Given the description of an element on the screen output the (x, y) to click on. 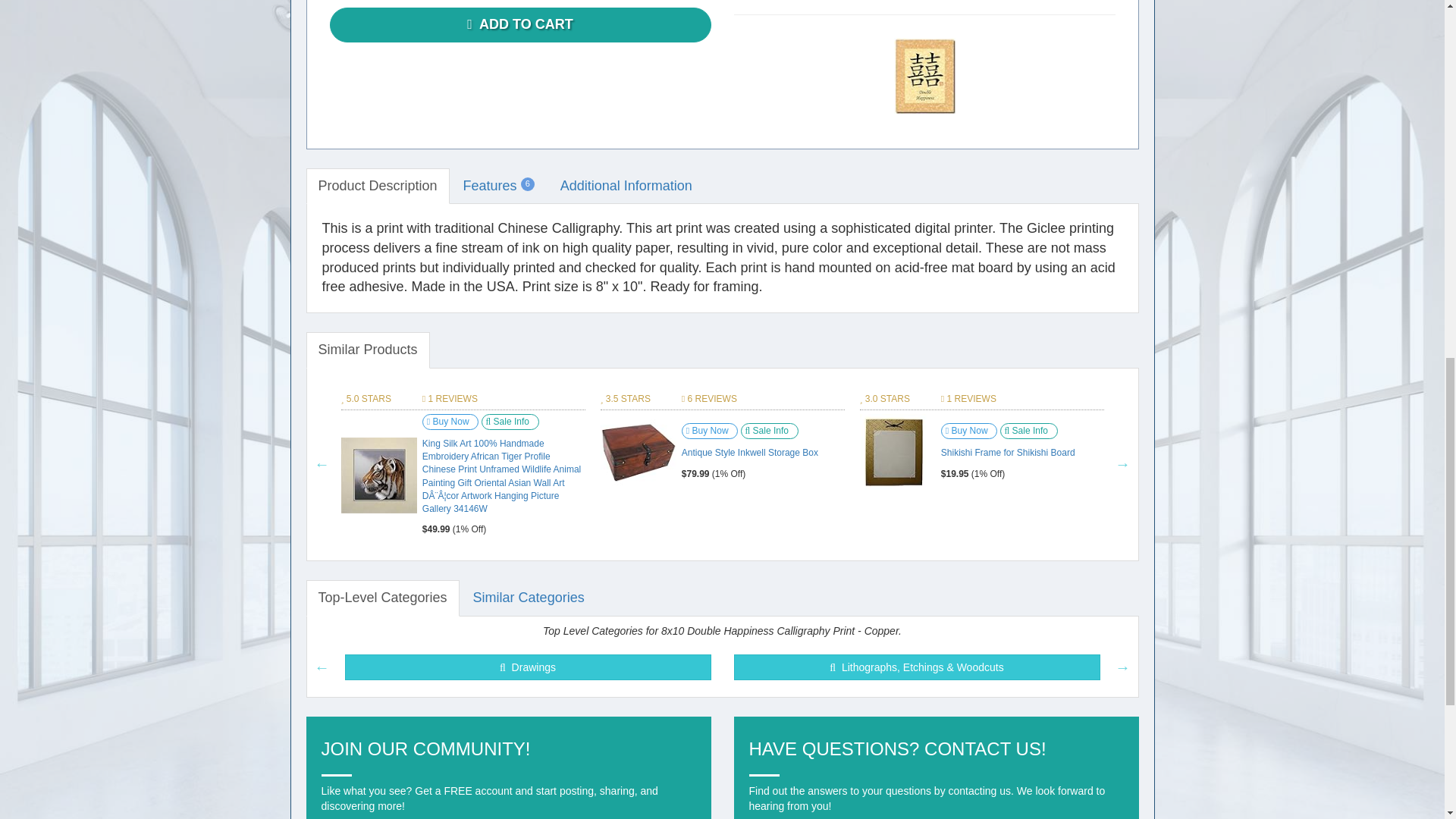
Buy Now   (450, 421)
Product Description (377, 186)
Similar Products (367, 350)
Sale Info   (509, 421)
Previous (321, 463)
Additional Information (626, 186)
Features 6 (499, 186)
  ADD TO CART (519, 24)
Antique Style Inkwell Storage Box (638, 451)
Shikishi Frame for Shikishi Board (895, 451)
